Given the description of an element on the screen output the (x, y) to click on. 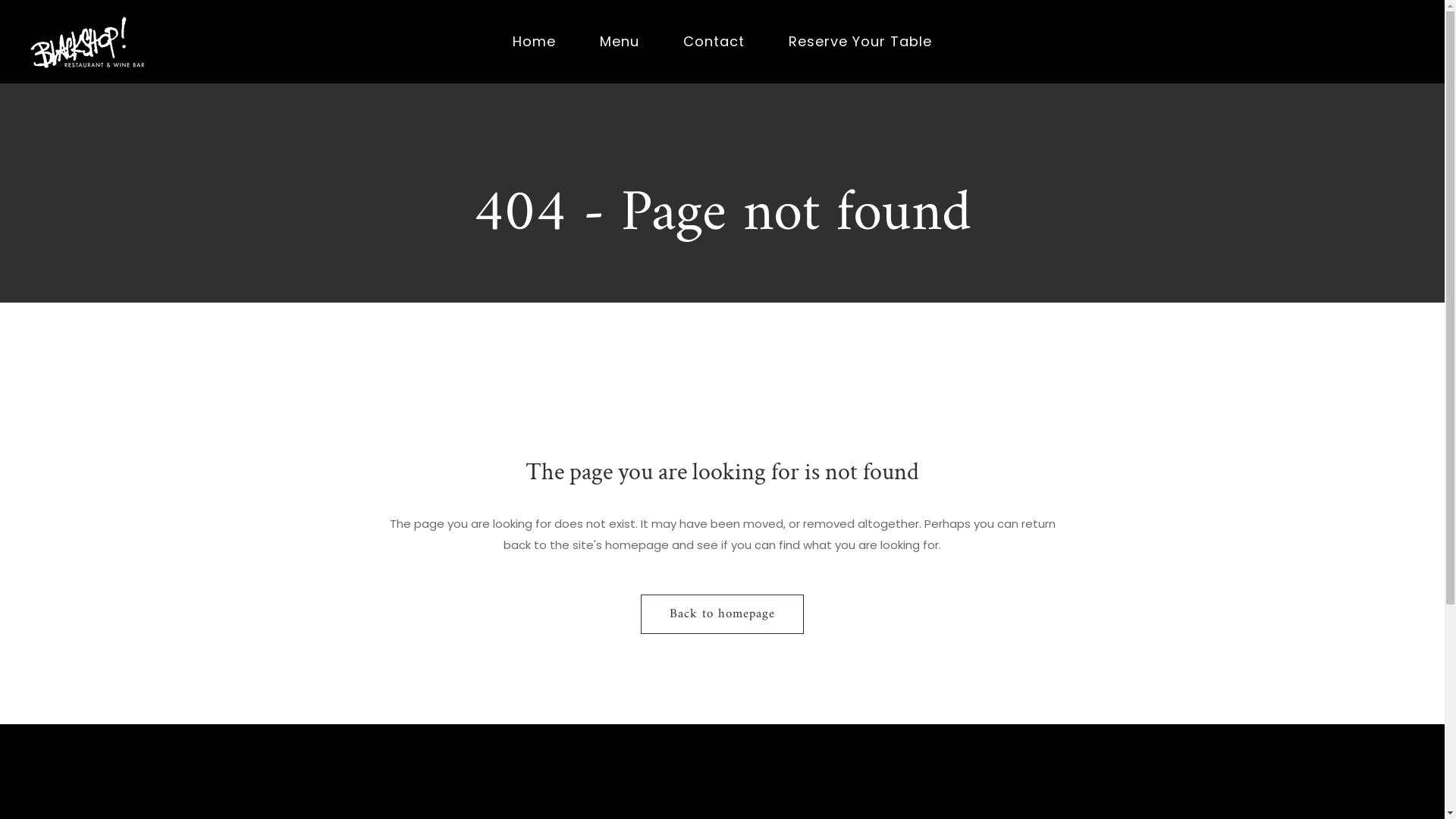
Reserve Your Table Element type: text (859, 41)
Menu Element type: text (619, 41)
Back to homepage Element type: text (721, 613)
Contact Element type: text (713, 41)
Home Element type: text (533, 41)
